Given the description of an element on the screen output the (x, y) to click on. 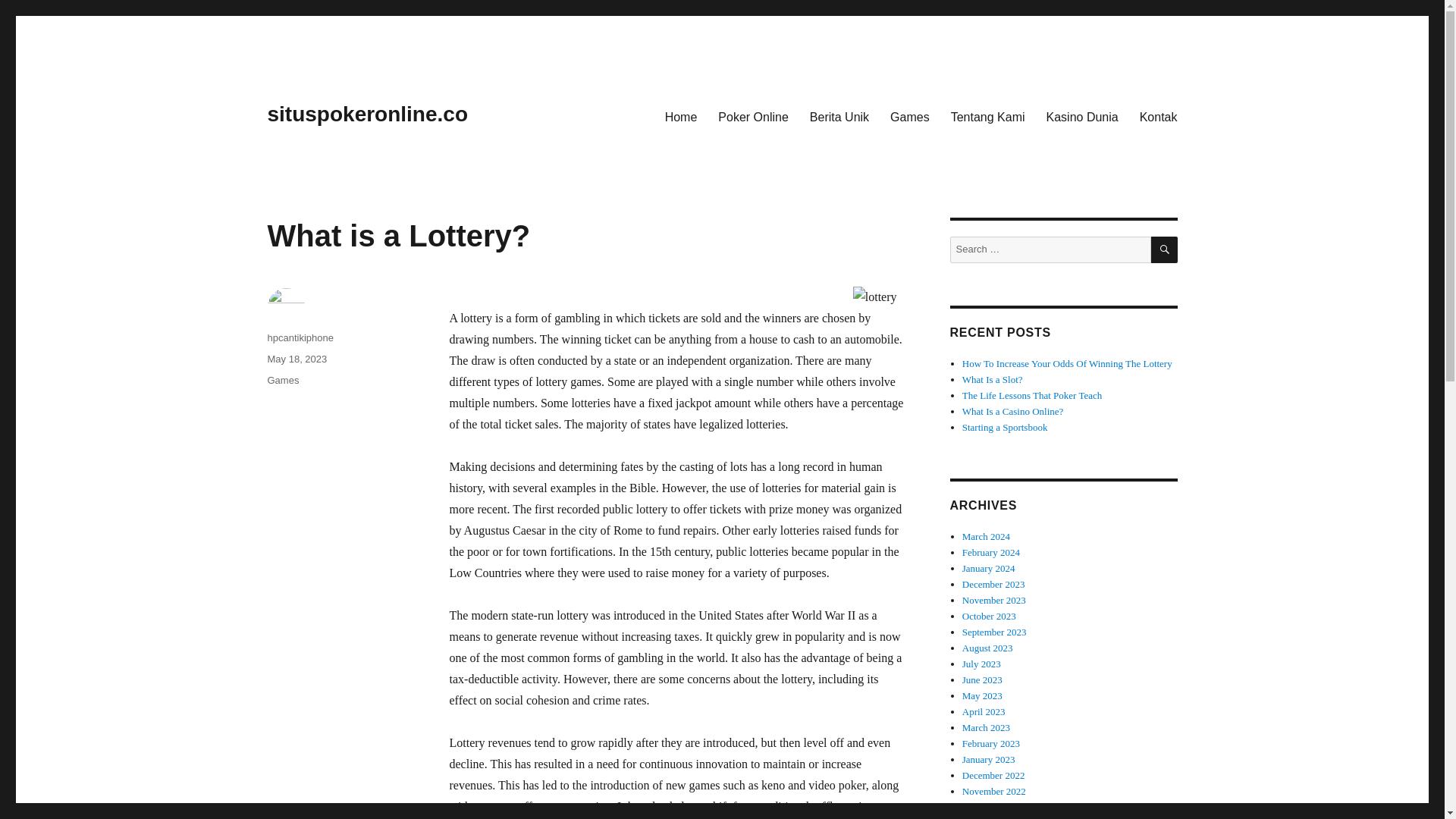
August 2023 (987, 647)
January 2023 (988, 758)
September 2022 (994, 818)
Home (680, 116)
October 2023 (989, 615)
June 2023 (982, 679)
How To Increase Your Odds Of Winning The Lottery (1067, 363)
Kasino Dunia (1082, 116)
SEARCH (1164, 249)
February 2023 (991, 743)
